Given the description of an element on the screen output the (x, y) to click on. 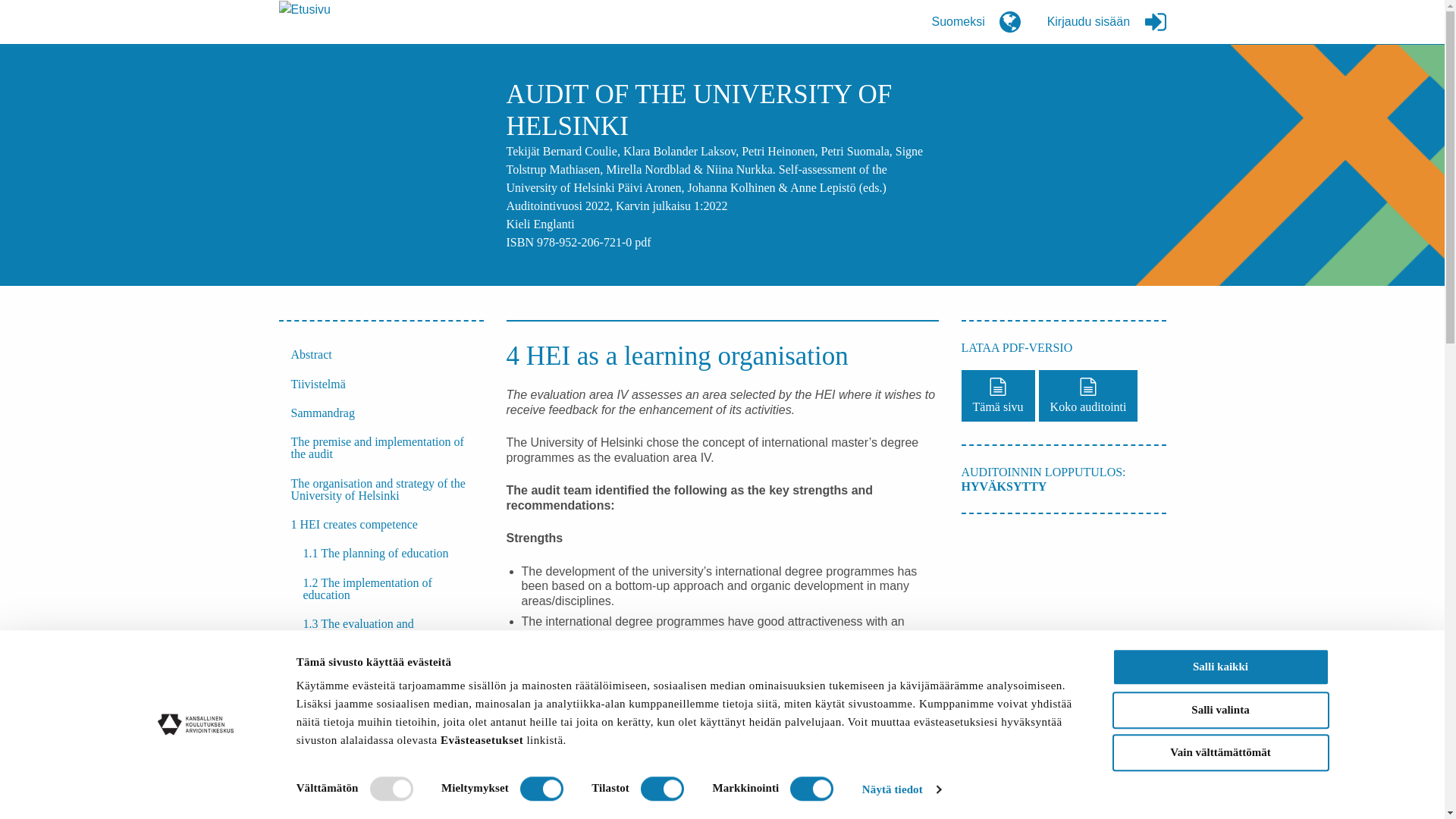
Salli kaikki (1219, 666)
Salli valinta (1219, 709)
The premise and implementation of the audit (381, 447)
Abstract (381, 354)
Sammandrag (381, 412)
Suomeksi (975, 21)
